Given the description of an element on the screen output the (x, y) to click on. 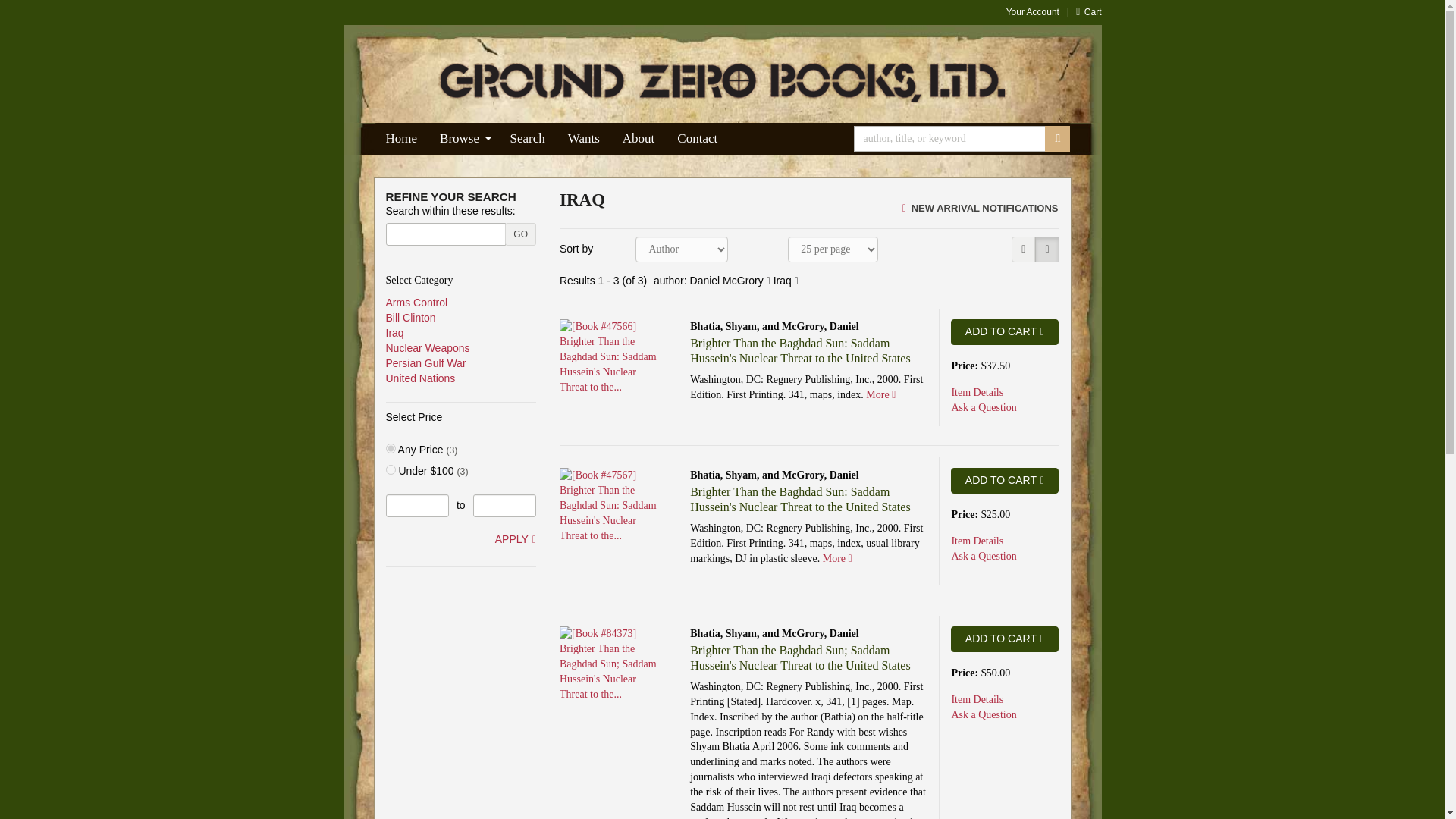
Ground Zero Books, Ltd. (721, 83)
Skip to main content (350, 7)
About (638, 138)
GO (520, 233)
Your Account (1032, 11)
,99 (389, 470)
SUBMIT SEARCH (1057, 138)
Search (527, 138)
Home (401, 138)
Cart (1087, 11)
Wants (583, 138)
Contact (697, 138)
Skip to next section (393, 197)
Browse (462, 138)
, (389, 448)
